Given the description of an element on the screen output the (x, y) to click on. 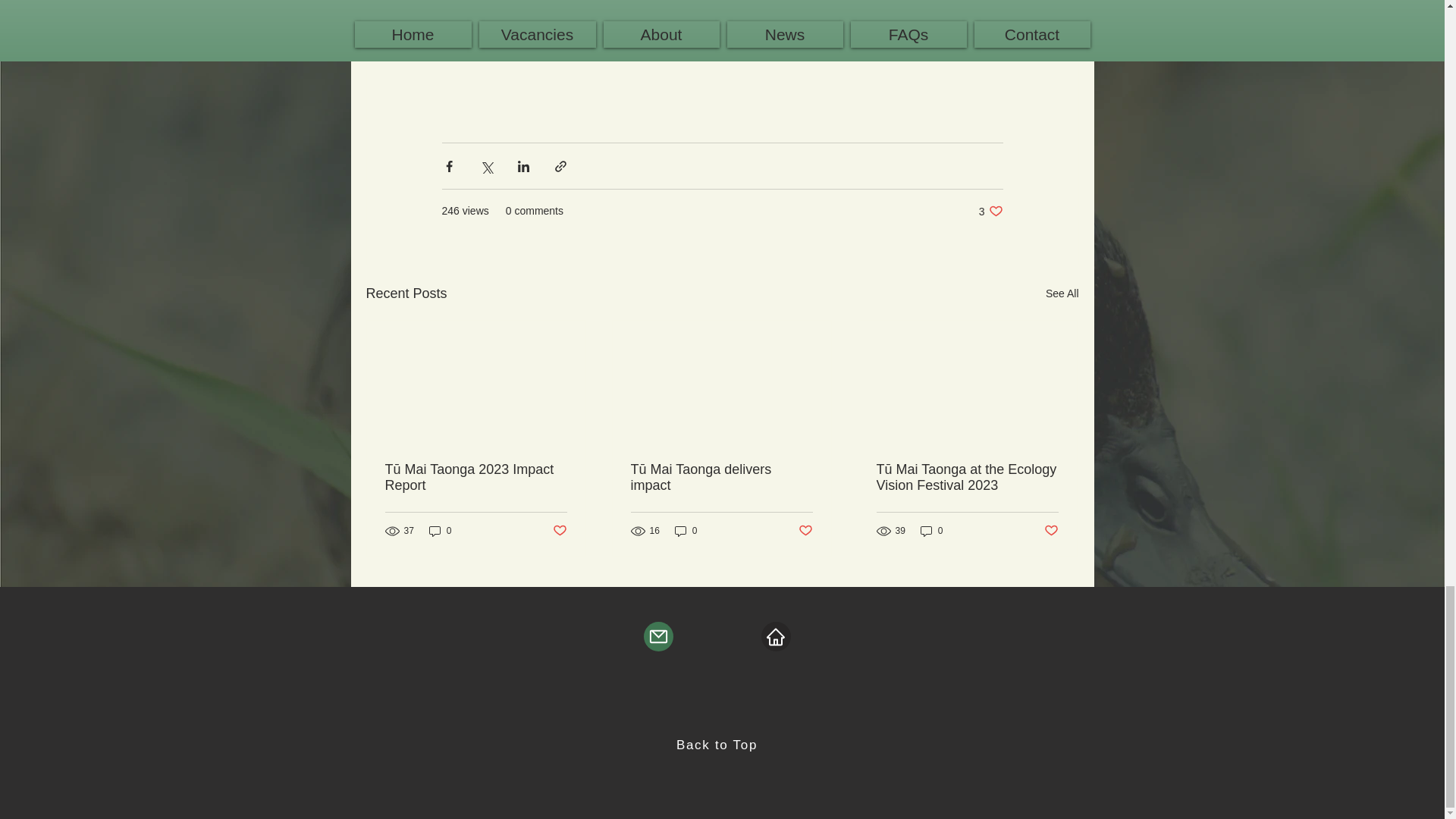
Contact Us (722, 10)
Post not marked as liked (1050, 530)
0 (685, 531)
Back to Top (717, 744)
0 (440, 531)
Post not marked as liked (558, 530)
0 (931, 531)
See All (1061, 293)
Post not marked as liked (804, 530)
